Given the description of an element on the screen output the (x, y) to click on. 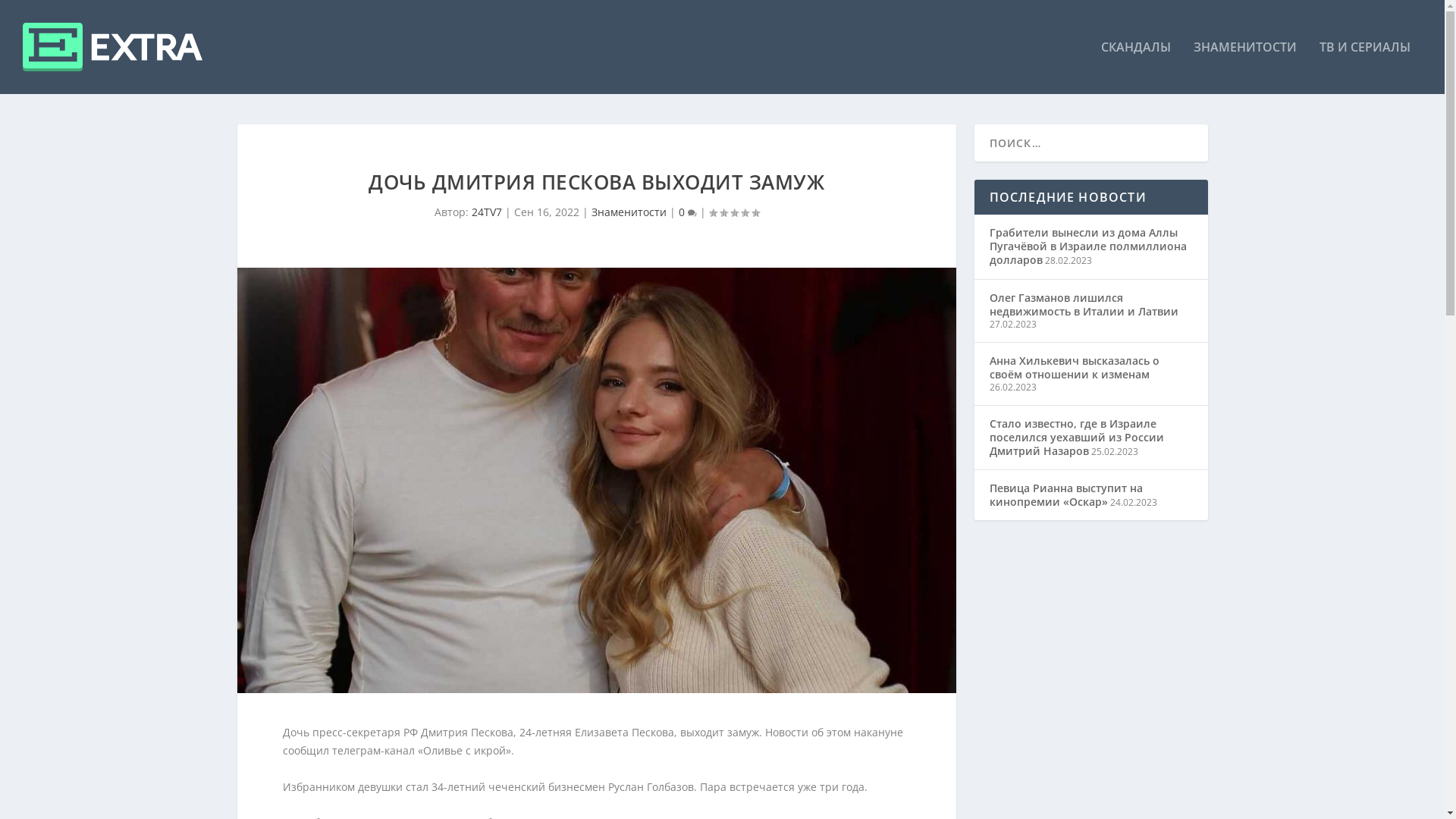
0 Element type: text (686, 211)
24TV7 Element type: text (486, 211)
